Given the description of an element on the screen output the (x, y) to click on. 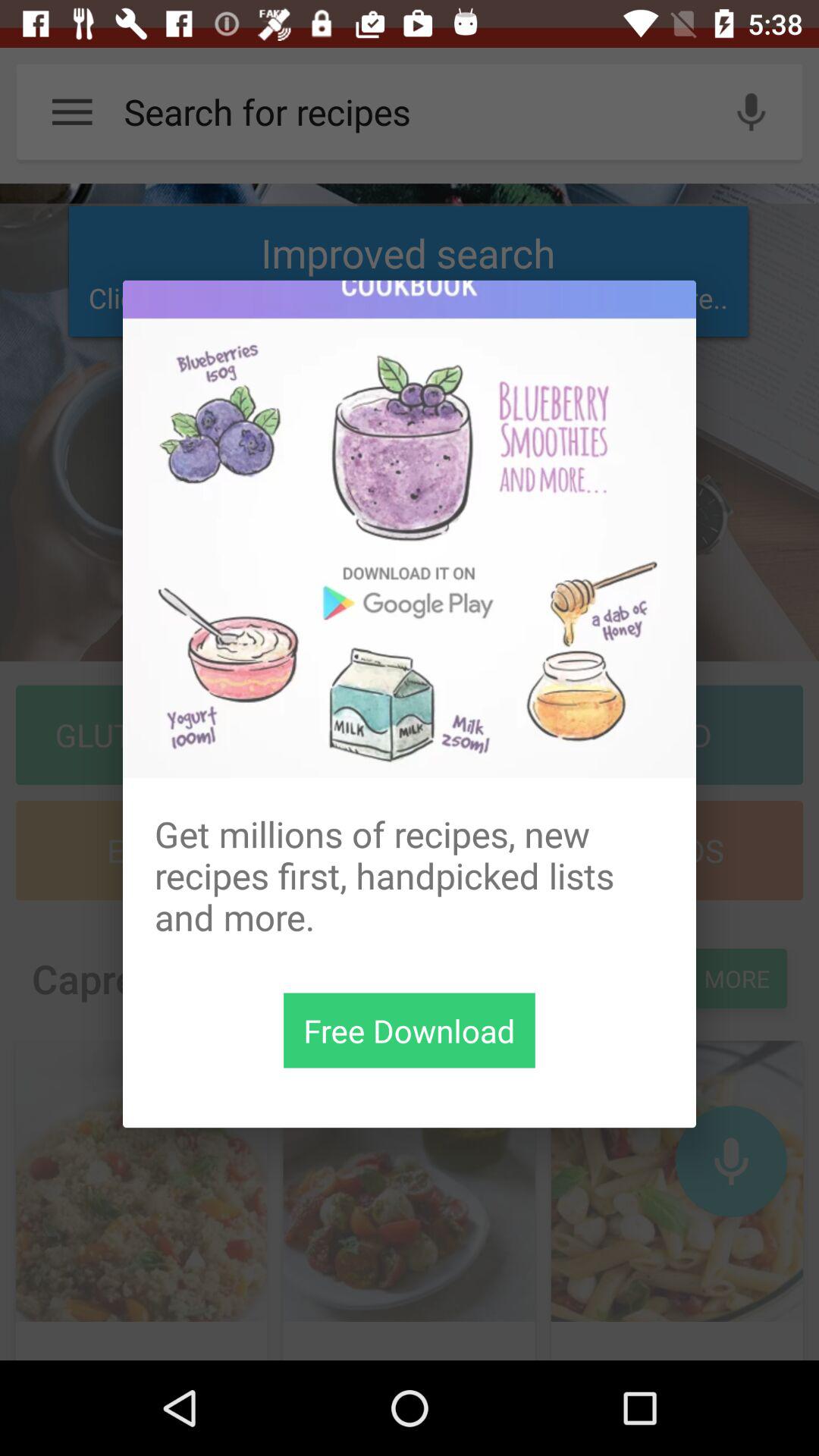
turn on the item below get millions of (409, 1030)
